Given the description of an element on the screen output the (x, y) to click on. 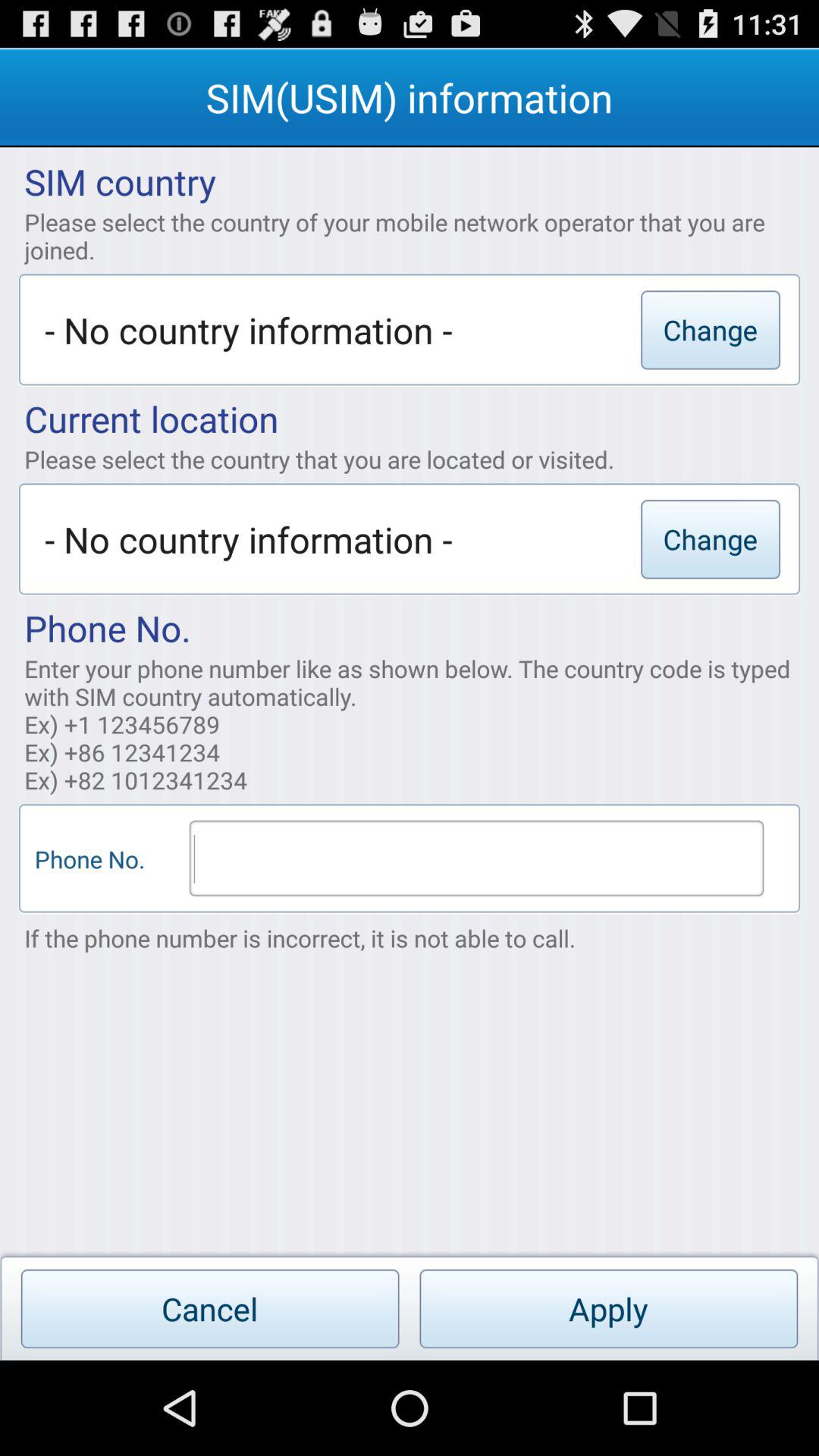
scroll to cancel icon (210, 1309)
